Given the description of an element on the screen output the (x, y) to click on. 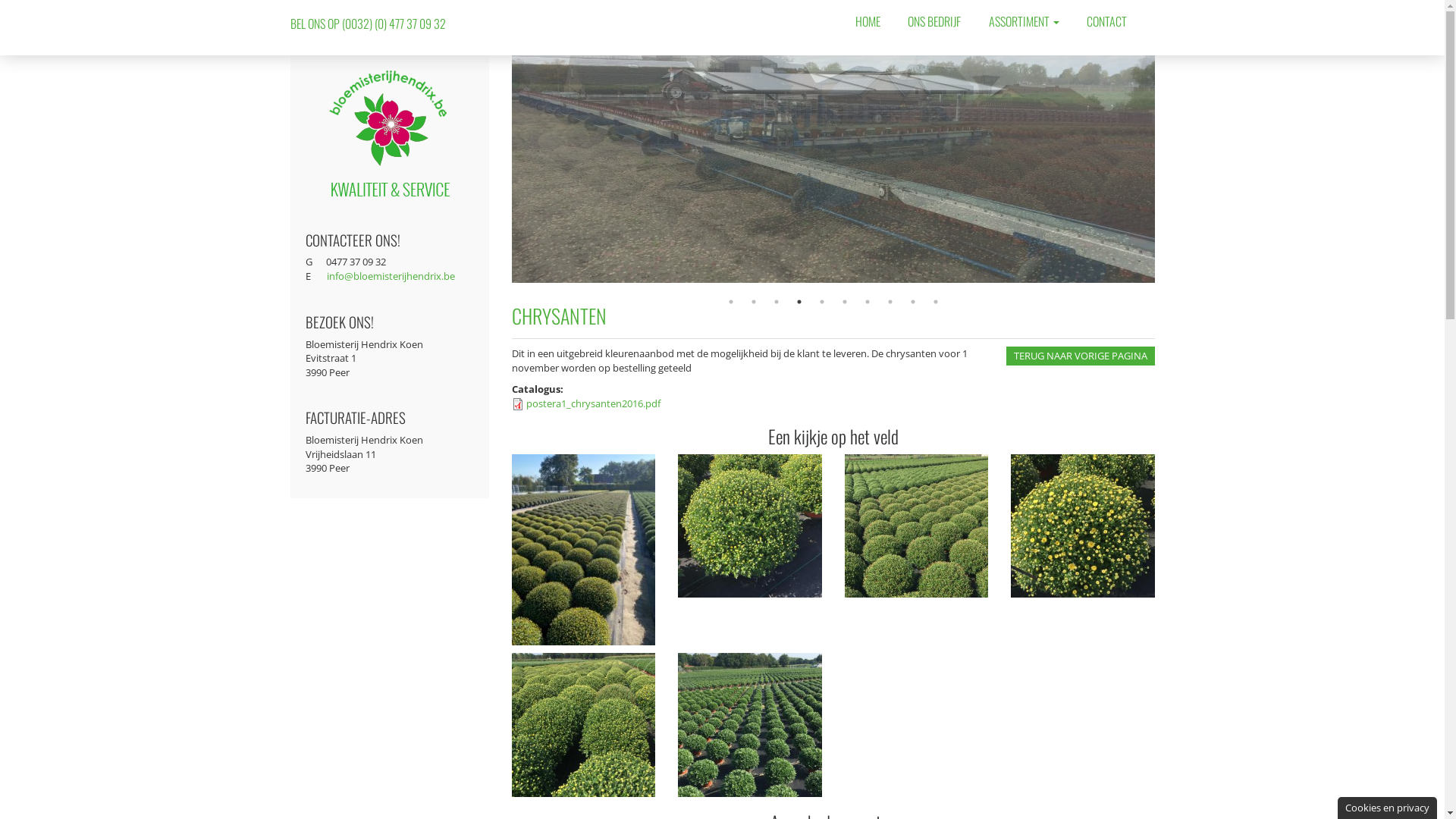
Next Element type: text (1165, 168)
4 Element type: text (798, 301)
CONTACT Element type: text (1106, 21)
2 Element type: text (753, 301)
8 Element type: text (889, 301)
TERUG NAAR VORIGE PAGINA Element type: text (1079, 355)
HOME Element type: text (867, 21)
6 Element type: text (844, 301)
3 Element type: text (776, 301)
Previous Element type: text (500, 168)
10 Element type: text (935, 301)
ASSORTIMENT Element type: text (1023, 21)
7 Element type: text (867, 301)
5 Element type: text (821, 301)
Overslaan en naar de algemene inhoud gaan Element type: text (100, 0)
9 Element type: text (912, 301)
1 Element type: text (730, 301)
info@bloemisterijhendrix.be Element type: text (390, 275)
ONS BEDRIJF Element type: text (934, 21)
postera1_chrysanten2016.pdf Element type: text (593, 403)
application/pdf Element type: hover (517, 404)
